Given the description of an element on the screen output the (x, y) to click on. 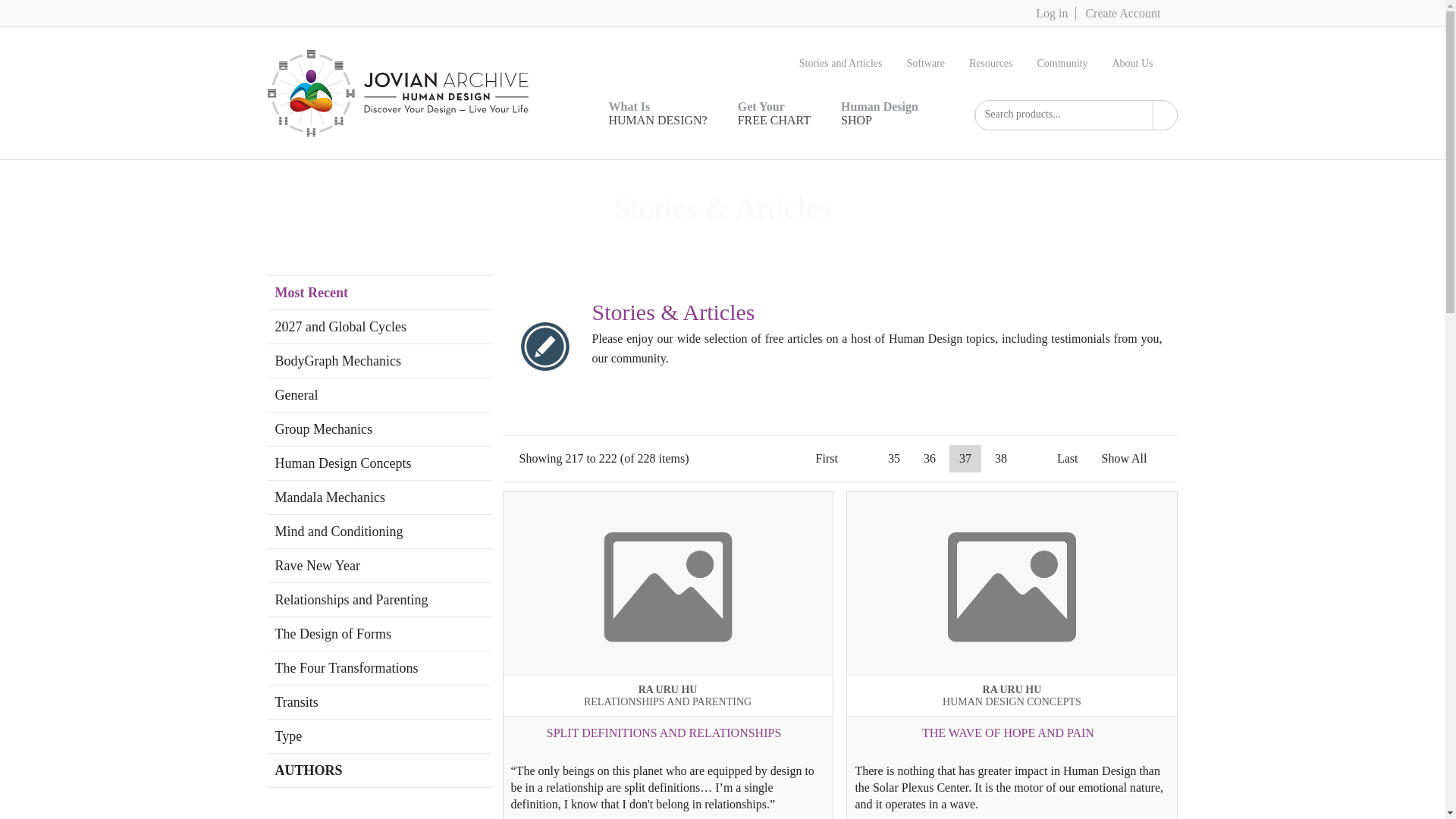
Software (930, 63)
Last page (1066, 458)
Stories and Articles (879, 113)
Community (847, 63)
First (774, 113)
Log in (1068, 63)
Create Account (826, 458)
